Given the description of an element on the screen output the (x, y) to click on. 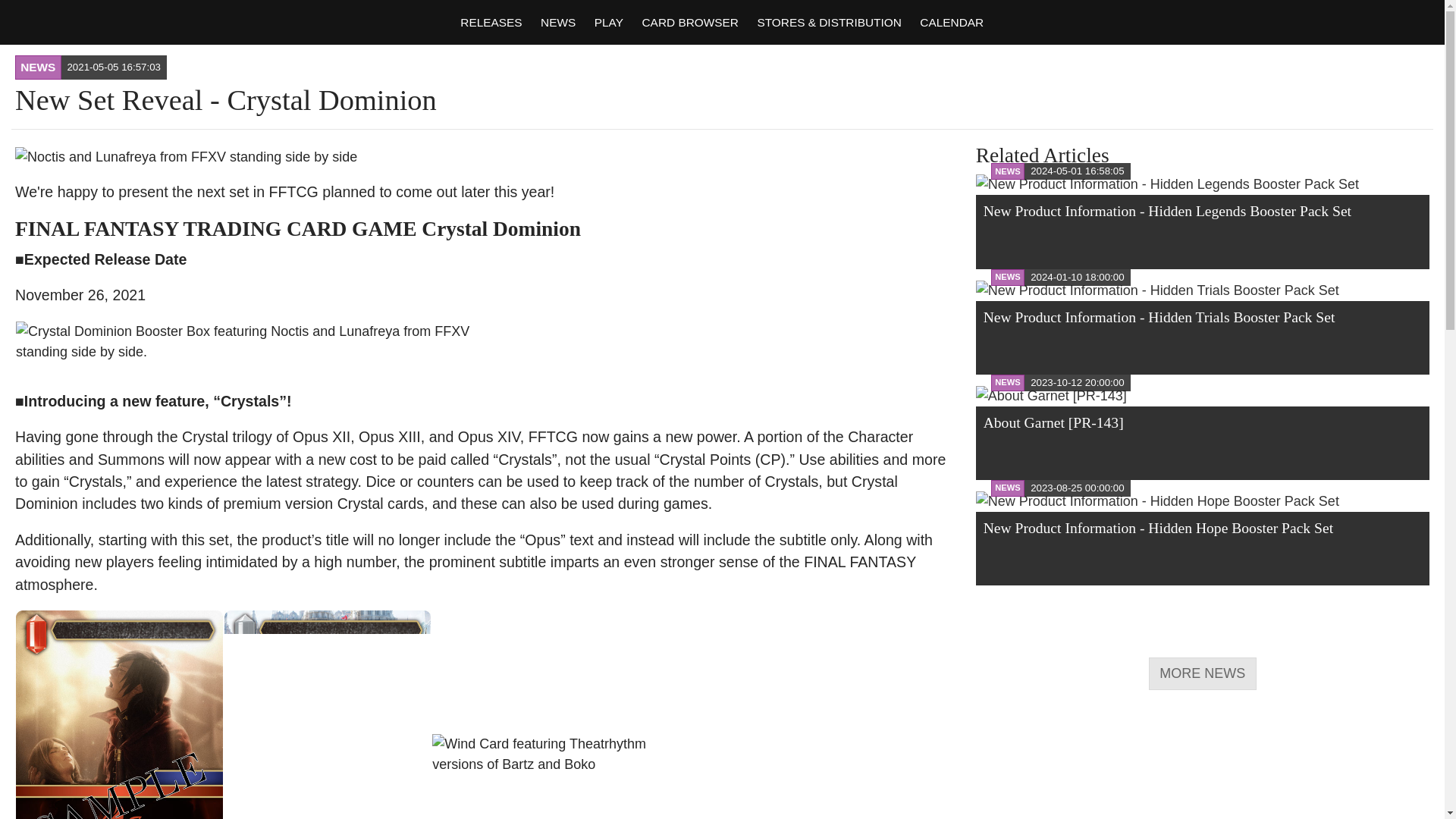
CARD BROWSER (688, 21)
CALENDAR (950, 21)
NEWS (556, 21)
MORE NEWS (1202, 673)
RELEASES (489, 21)
PLAY (607, 21)
